Given the description of an element on the screen output the (x, y) to click on. 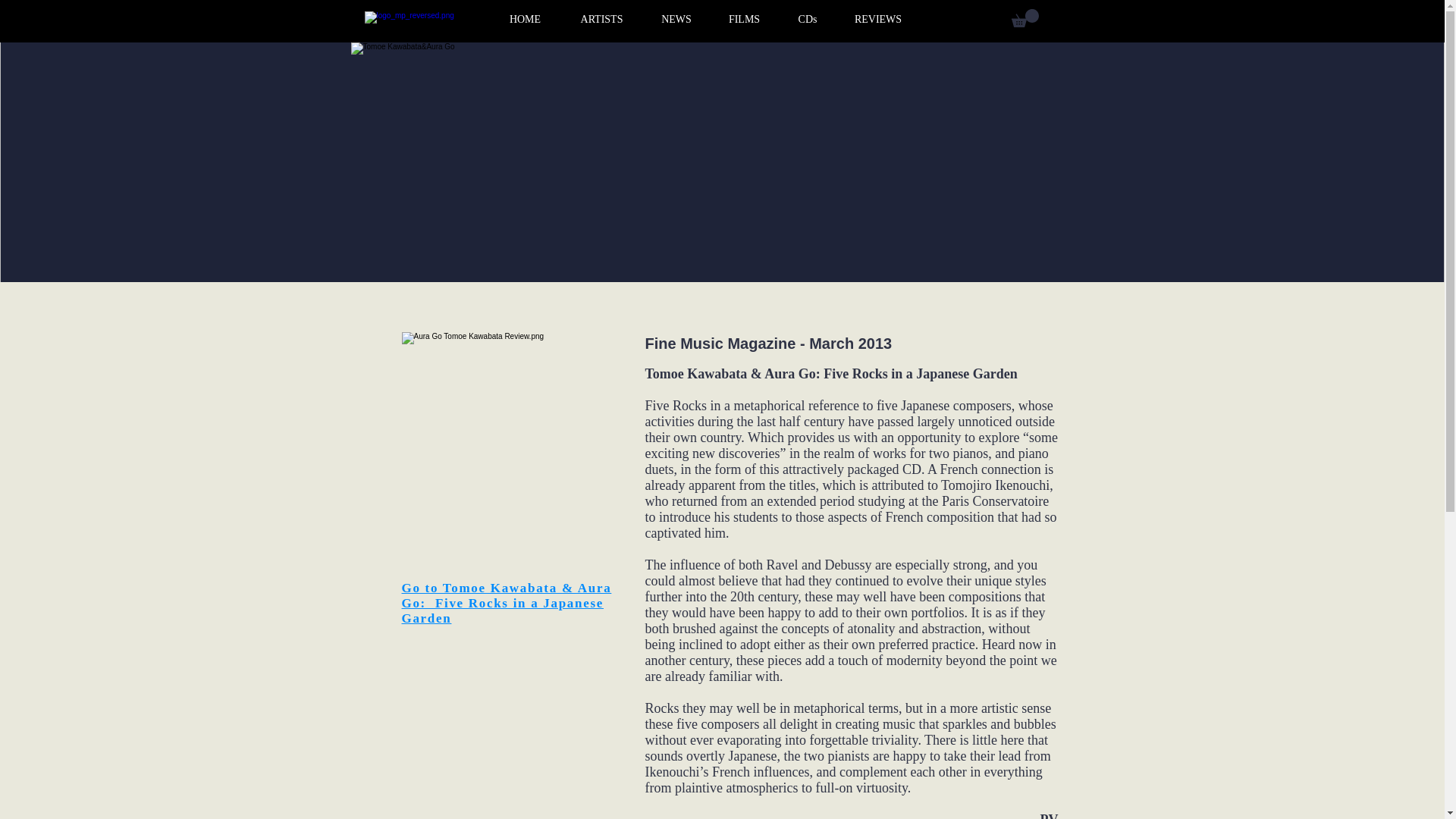
REVIEWS (878, 18)
CDs (806, 18)
FILMS (743, 18)
HOME (524, 18)
NEWS (676, 18)
ARTISTS (601, 18)
